Given the description of an element on the screen output the (x, y) to click on. 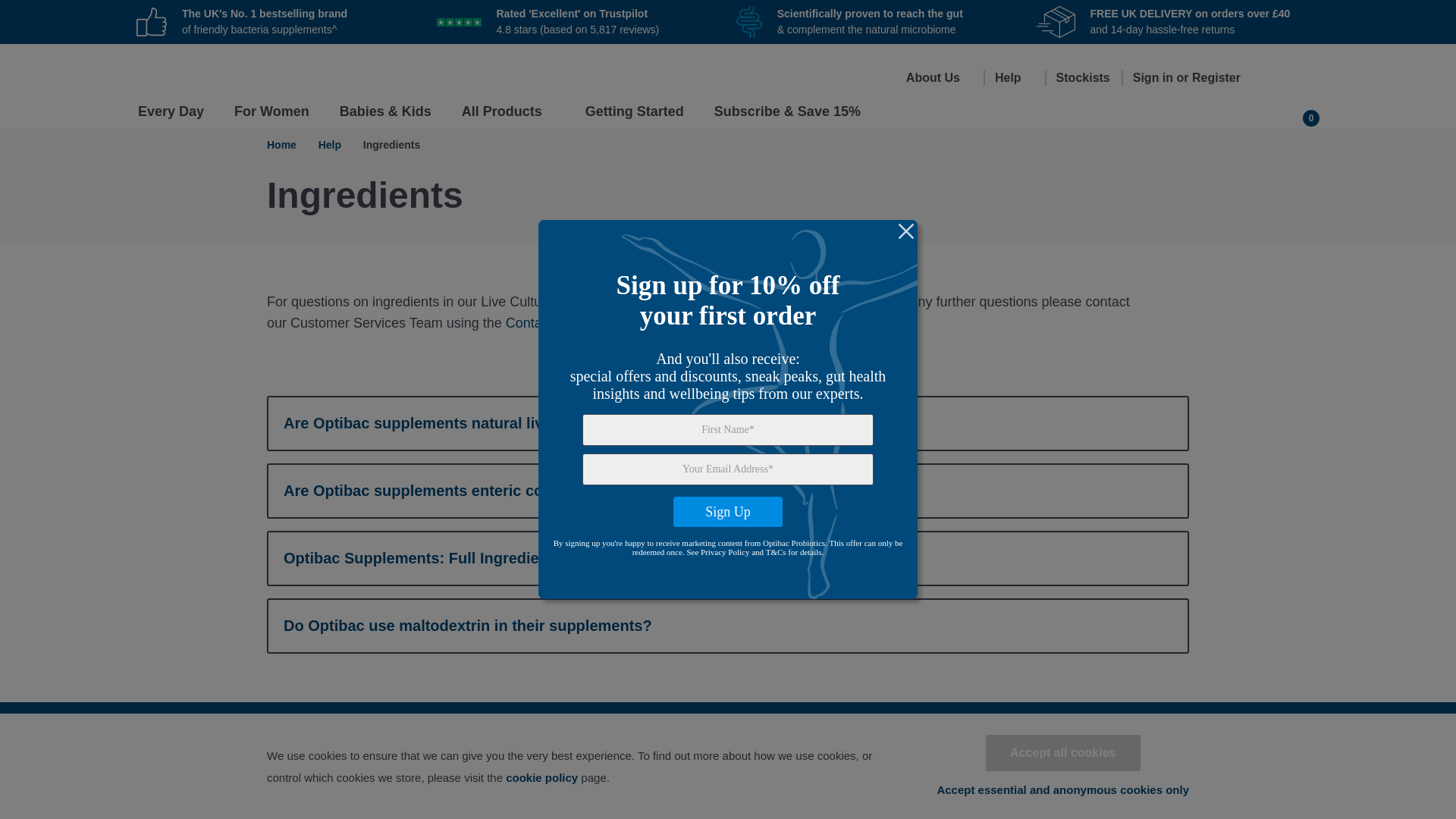
Sign in or Register (1192, 84)
Stockists (1082, 84)
Optibac (183, 72)
Every Day (170, 115)
View basket (1303, 109)
Help (1013, 84)
Optibac (183, 73)
Region selector (1299, 78)
About Us (938, 84)
For Women (271, 115)
Sign in or Register (1192, 84)
All Products (508, 115)
